Given the description of an element on the screen output the (x, y) to click on. 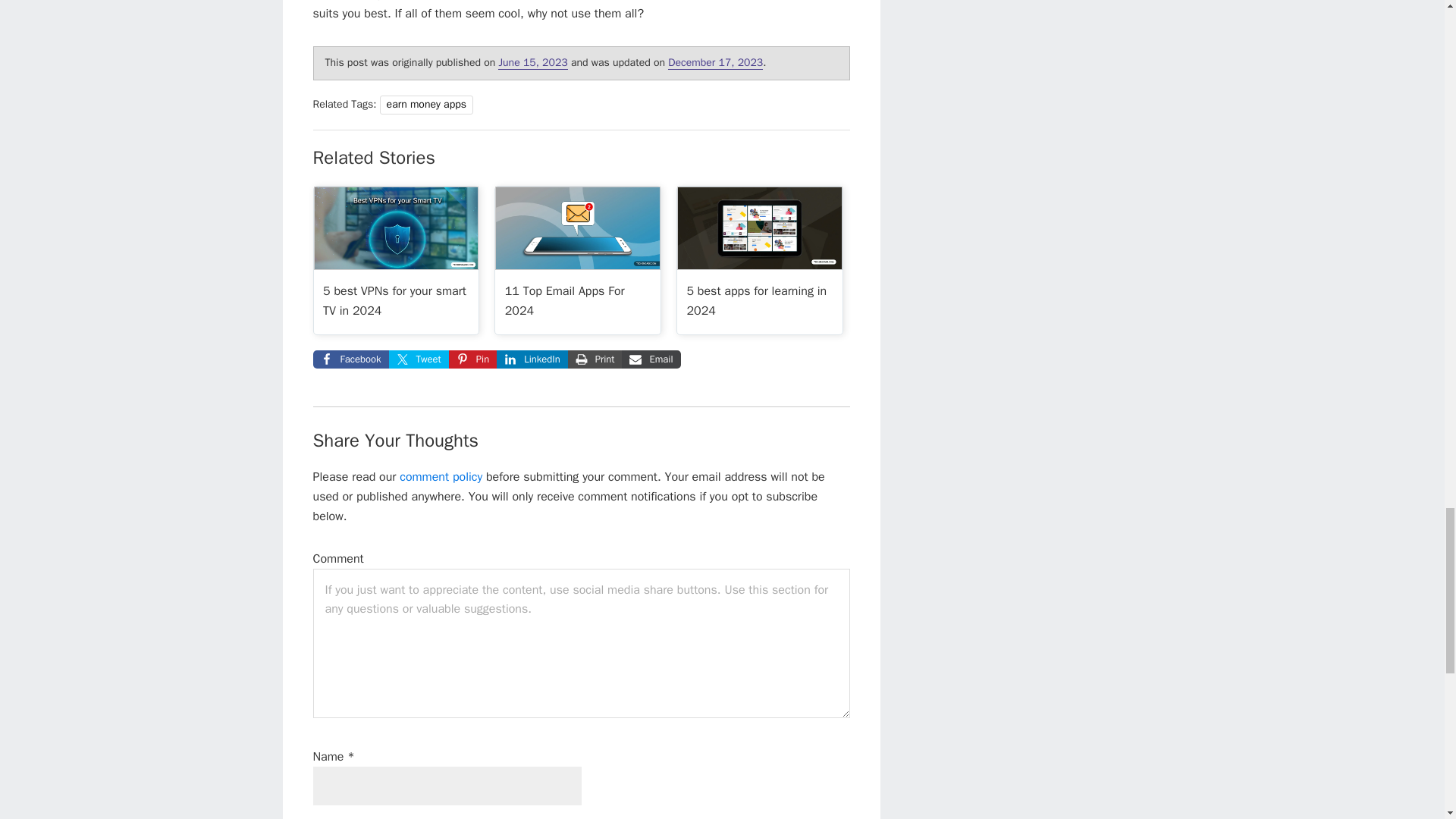
Email (650, 359)
